Given the description of an element on the screen output the (x, y) to click on. 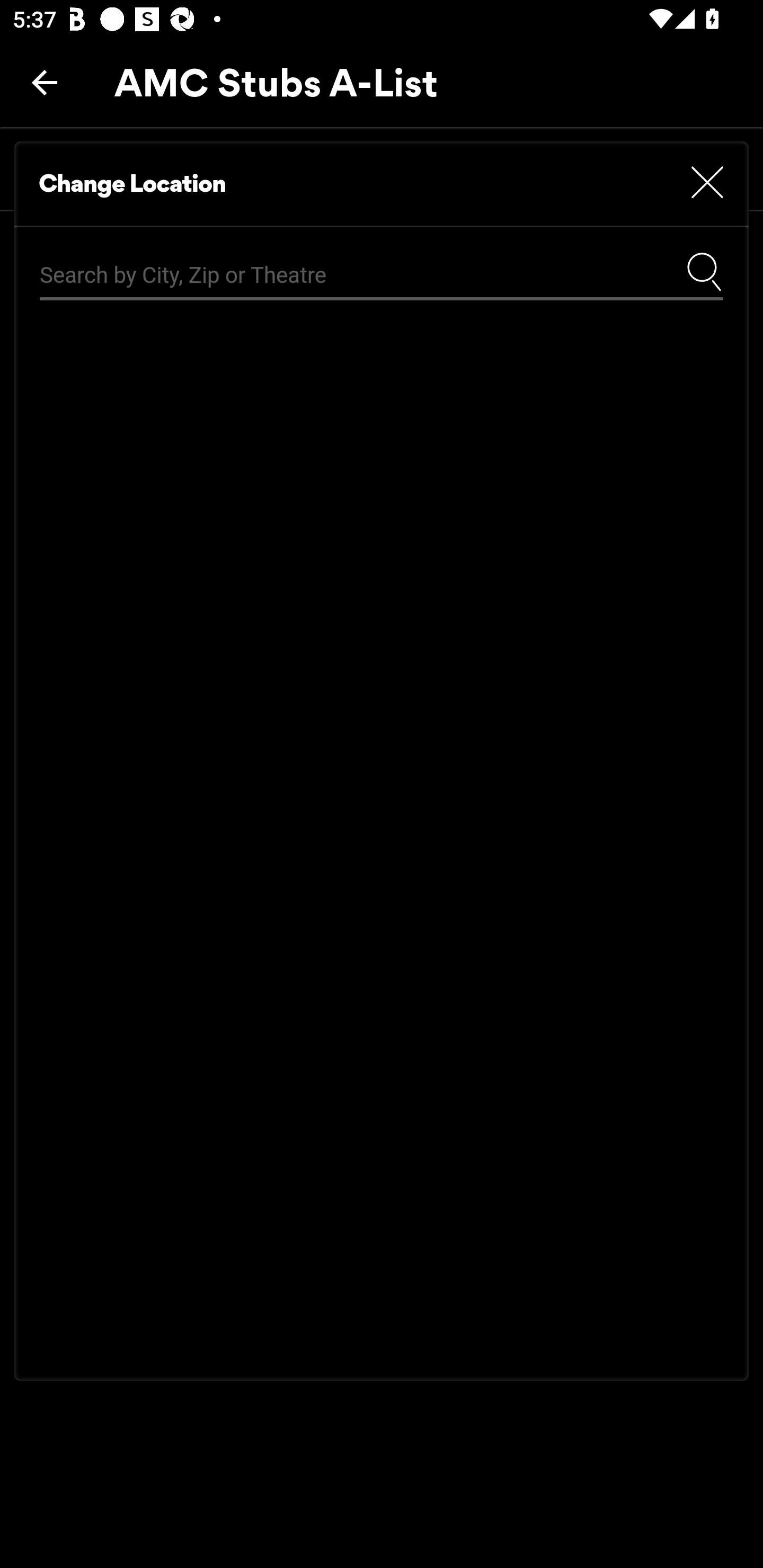
Back (44, 82)
close (707, 183)
Submit Search (704, 271)
